Given the description of an element on the screen output the (x, y) to click on. 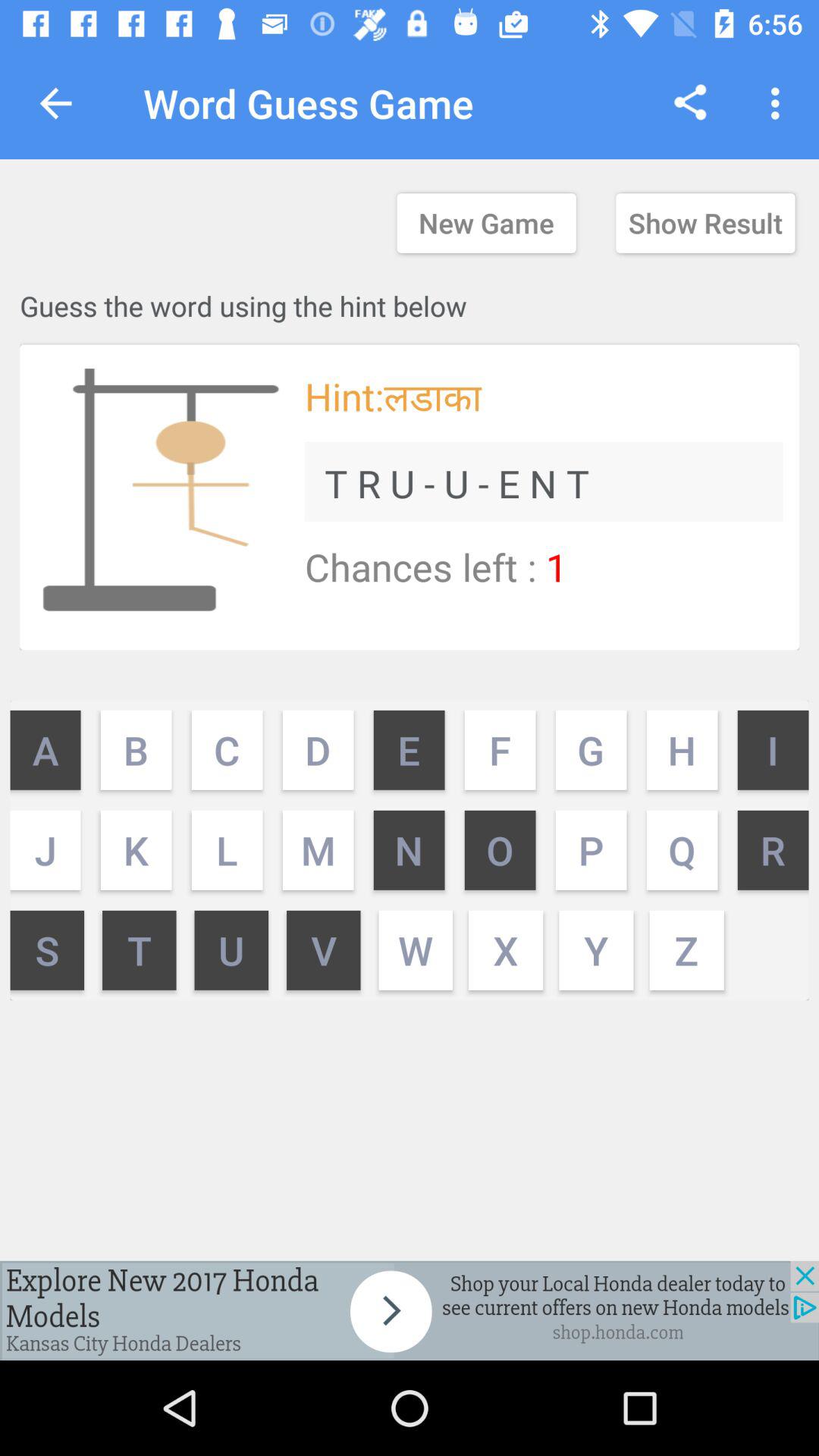
select the advertisement (409, 1310)
